Given the description of an element on the screen output the (x, y) to click on. 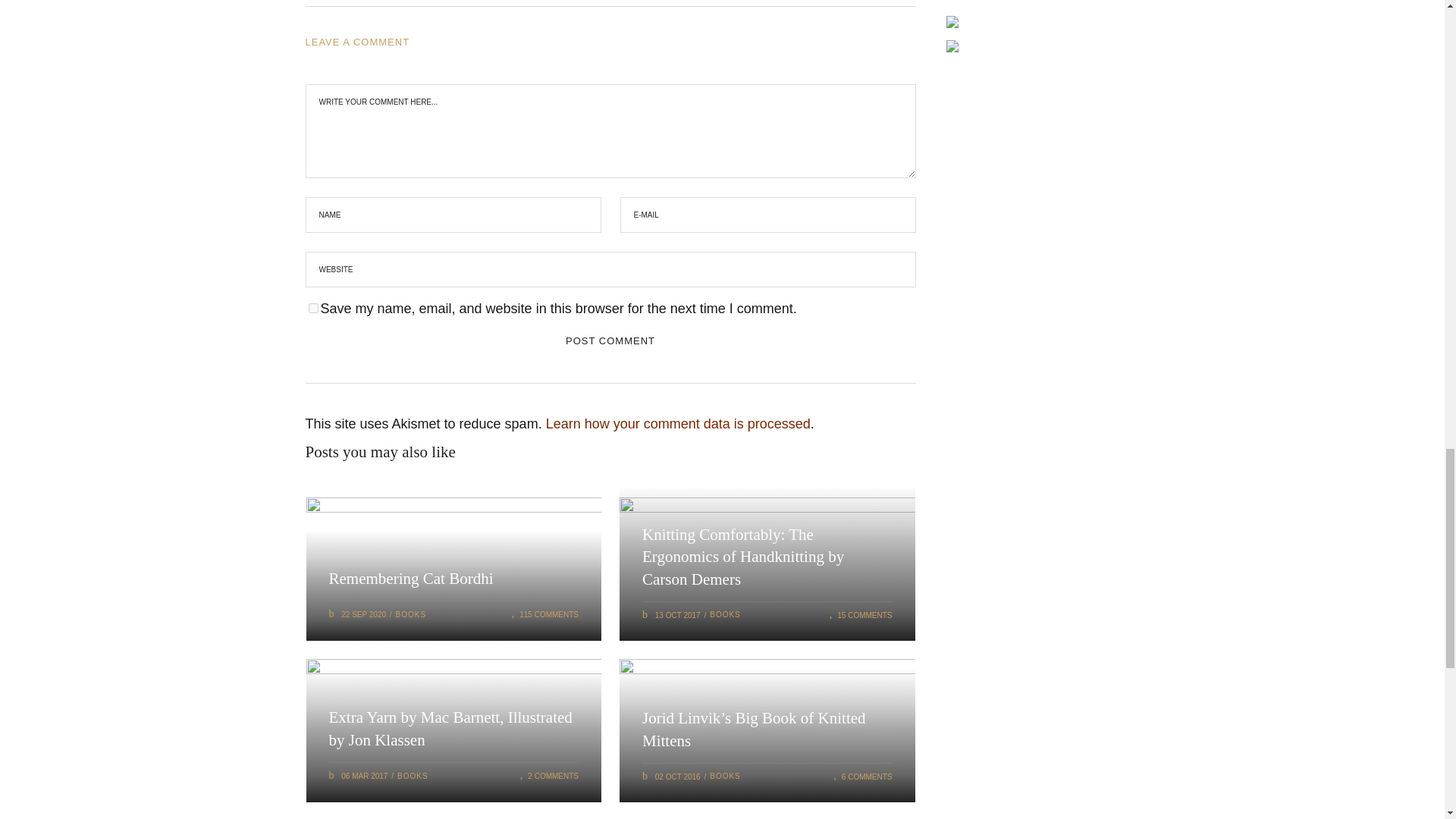
yes (312, 307)
POST COMMENT (609, 340)
POST COMMENT (609, 340)
